Given the description of an element on the screen output the (x, y) to click on. 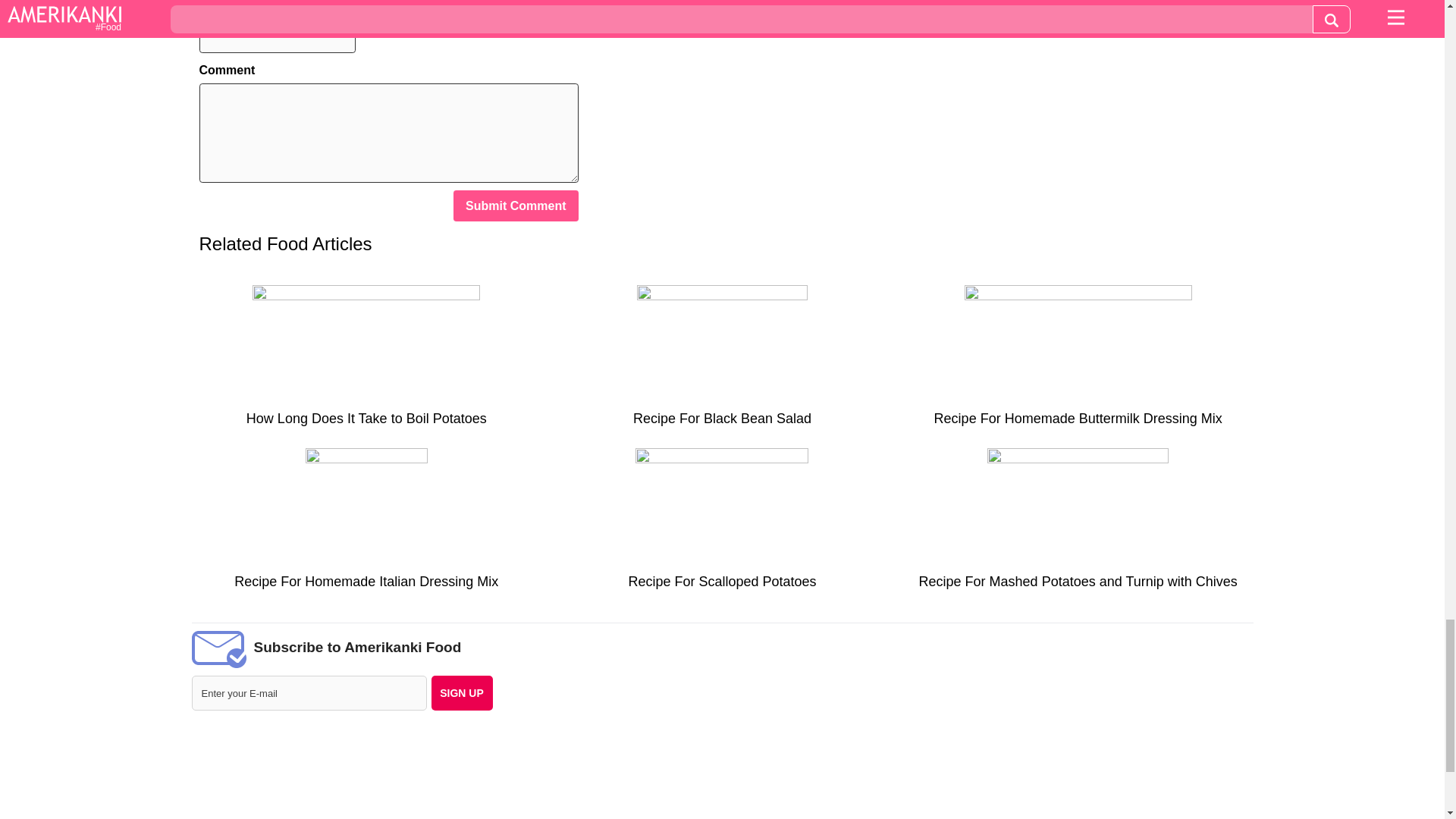
Enter your E-mail (308, 692)
Recipe For Mashed Potatoes and Turnip with Chives (1078, 524)
Submit Comment (515, 205)
Recipe For Homemade Italian Dressing Mix (366, 524)
Recipe For Scalloped Potatoes (721, 524)
Recipe For Black Bean Salad (721, 361)
How Long Does It Take to Boil Potatoes (366, 361)
Submit Comment (515, 205)
SIGN UP (461, 692)
Recipe For Homemade Buttermilk Dressing Mix (1078, 361)
